Given the description of an element on the screen output the (x, y) to click on. 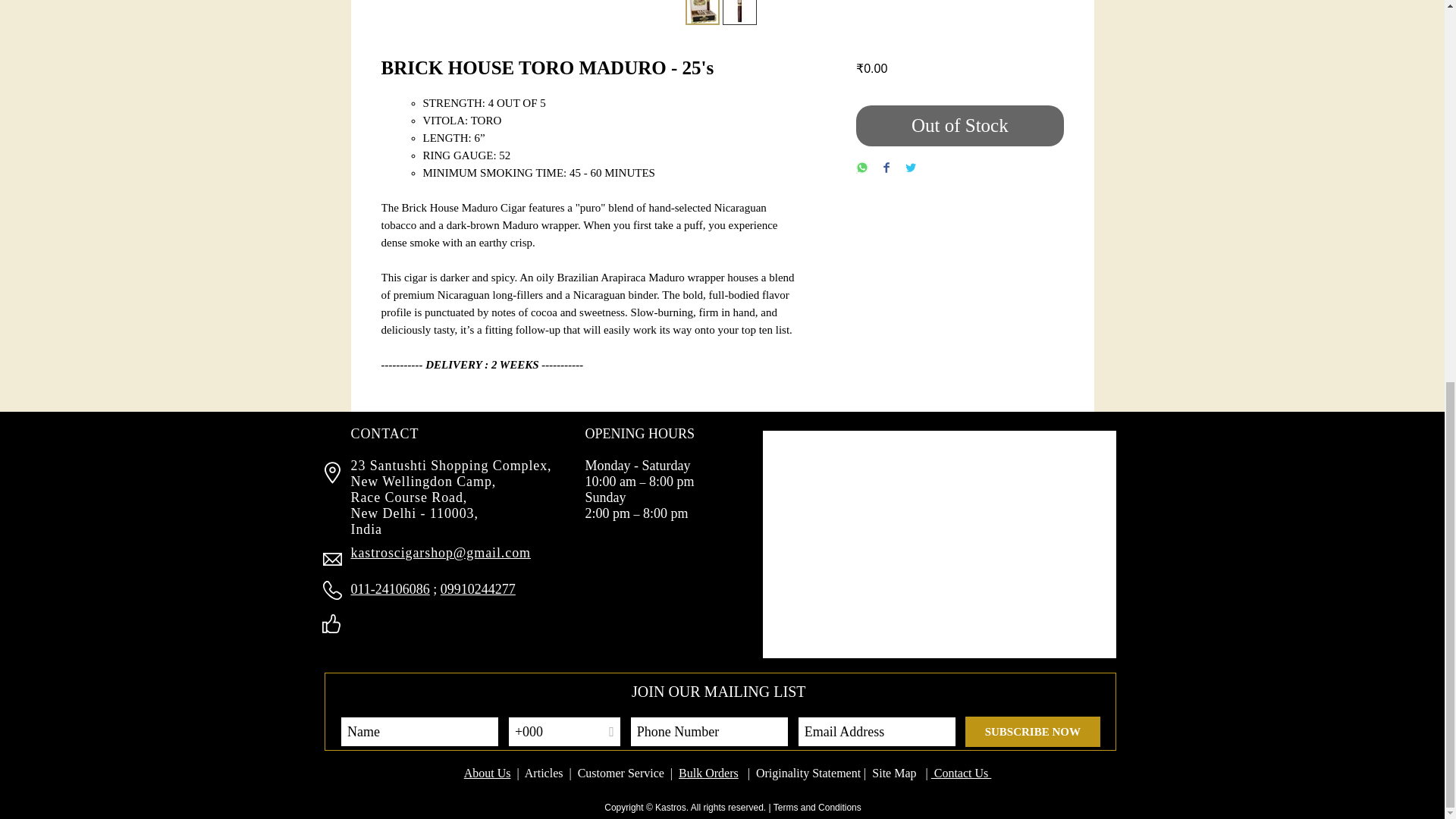
 Contact Us  (961, 772)
Google Maps (939, 544)
Wix Get Subscribers (720, 711)
Out of Stock (959, 125)
09910244277 (478, 589)
Bulk Orders (708, 772)
About Us (487, 772)
011-24106086 (389, 589)
